Given the description of an element on the screen output the (x, y) to click on. 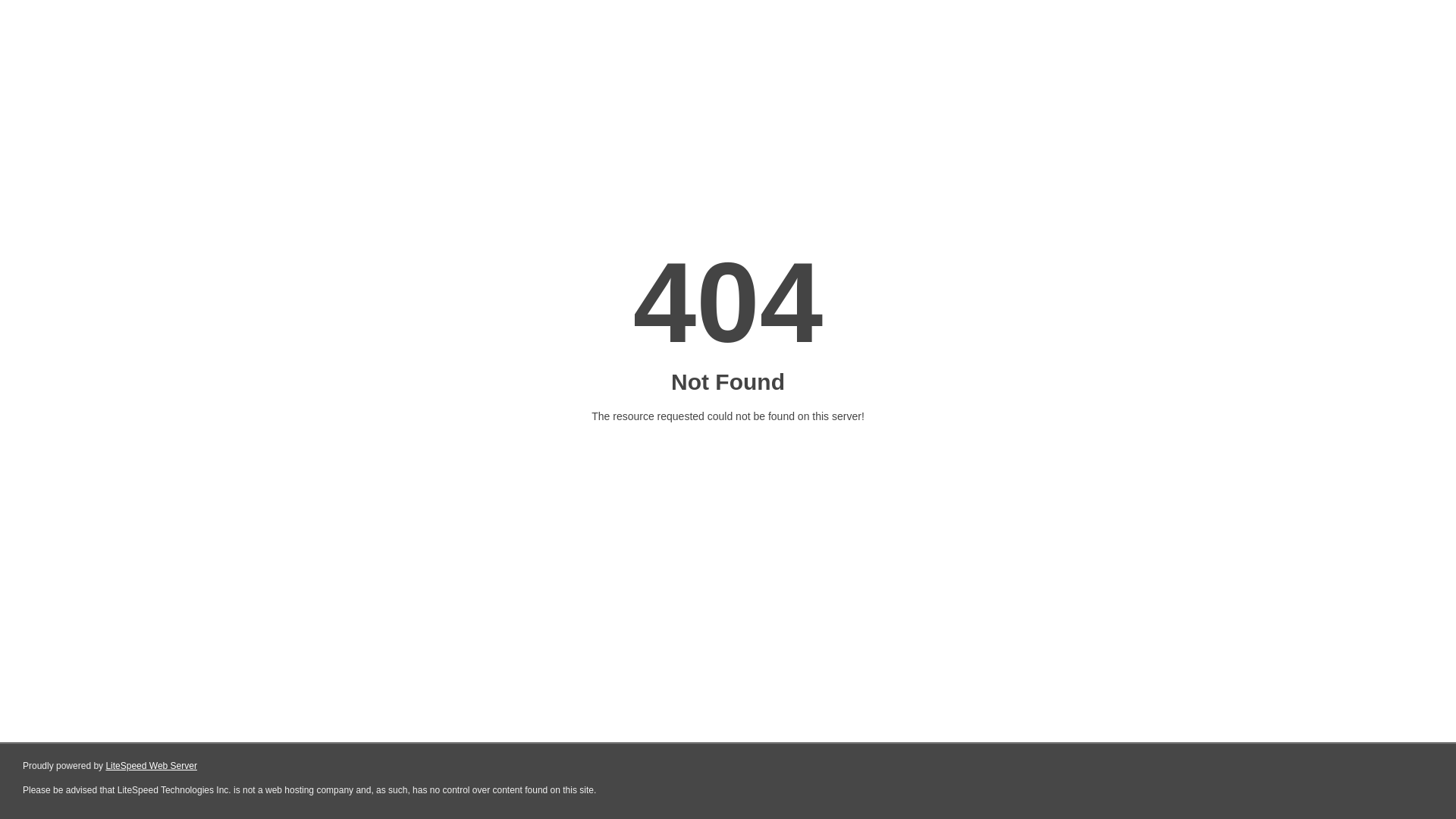
LiteSpeed Web Server Element type: text (151, 765)
